Given the description of an element on the screen output the (x, y) to click on. 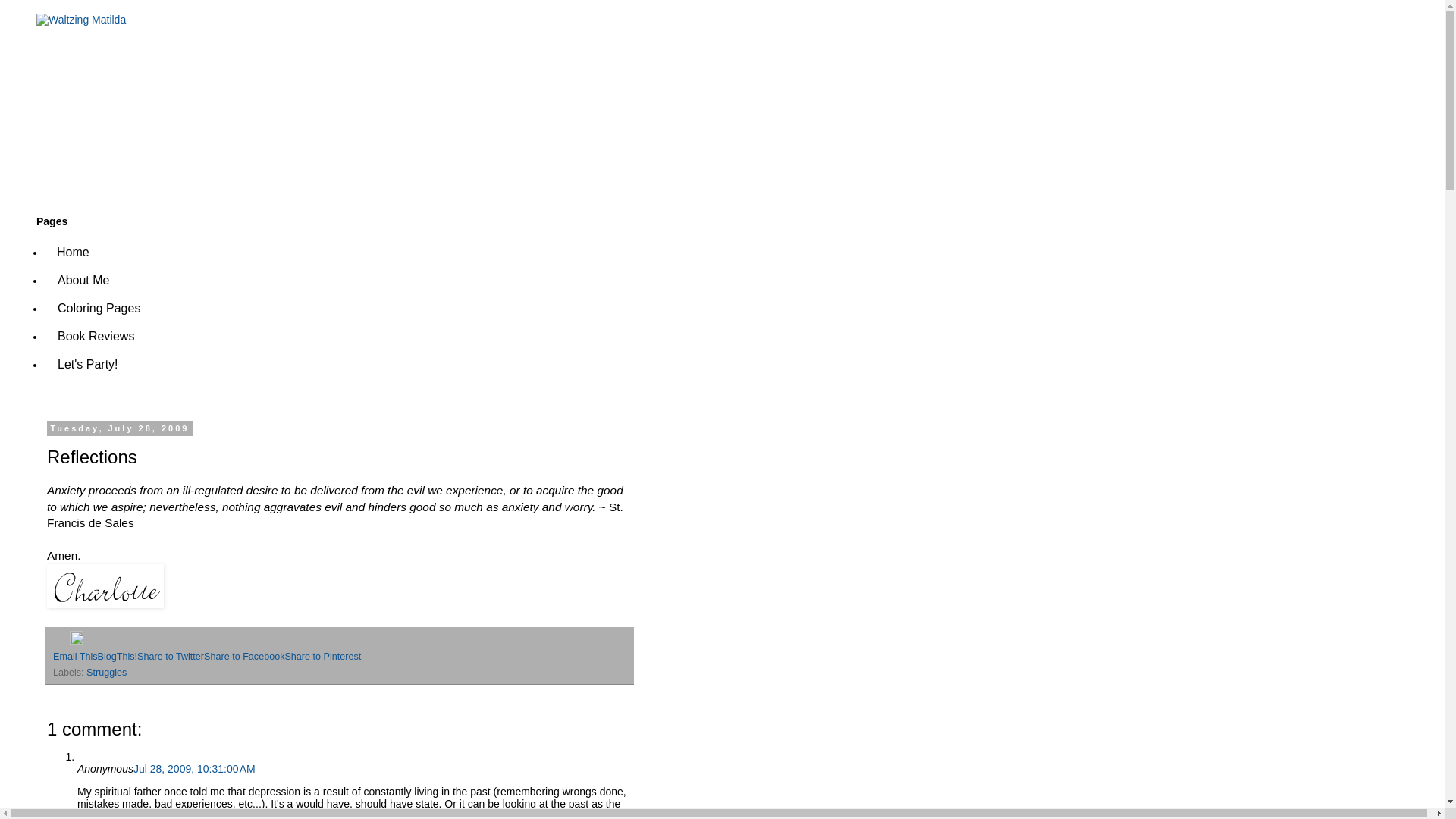
BlogThis! (117, 656)
Coloring Pages (98, 308)
Share to Twitter (169, 656)
Email This (74, 656)
Share to Pinterest (322, 656)
Struggles (105, 672)
Share to Twitter (169, 656)
Book Reviews (96, 336)
About Me (83, 280)
Share to Facebook (243, 656)
Email This (74, 656)
BlogThis! (117, 656)
Email Post (60, 641)
Edit Post (75, 641)
